Given the description of an element on the screen output the (x, y) to click on. 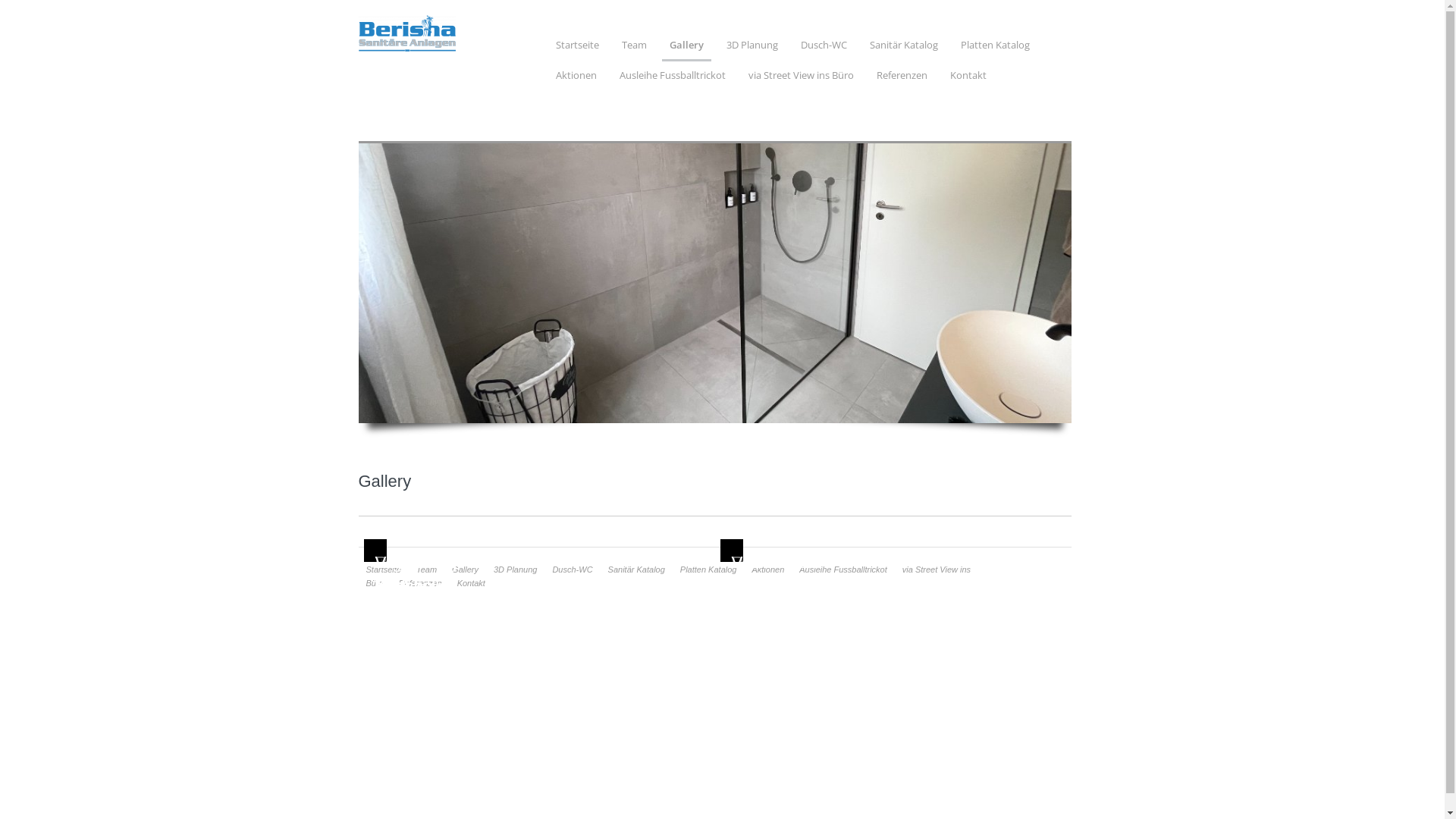
Platten Katalog Element type: text (708, 569)
Referenzen Element type: text (902, 78)
Team Element type: text (634, 48)
Startseite Element type: text (576, 48)
Team Element type: text (426, 569)
Kontakt Element type: text (967, 78)
Gallery Element type: text (464, 569)
Dusch-WC Element type: text (823, 48)
Ausleihe Fussballtrickot Element type: text (843, 569)
Gallery Element type: text (685, 49)
Startseite Element type: text (382, 569)
Referenzen Element type: text (420, 582)
Kontakt Element type: text (471, 582)
3D Planung Element type: text (751, 48)
Platten Katalog Element type: text (994, 48)
3D Planung Element type: text (515, 569)
Ausleihe Fussballtrickot Element type: text (671, 78)
Aktionen Element type: text (575, 78)
Dusch-WC Element type: text (572, 569)
Aktionen Element type: text (767, 569)
